Given the description of an element on the screen output the (x, y) to click on. 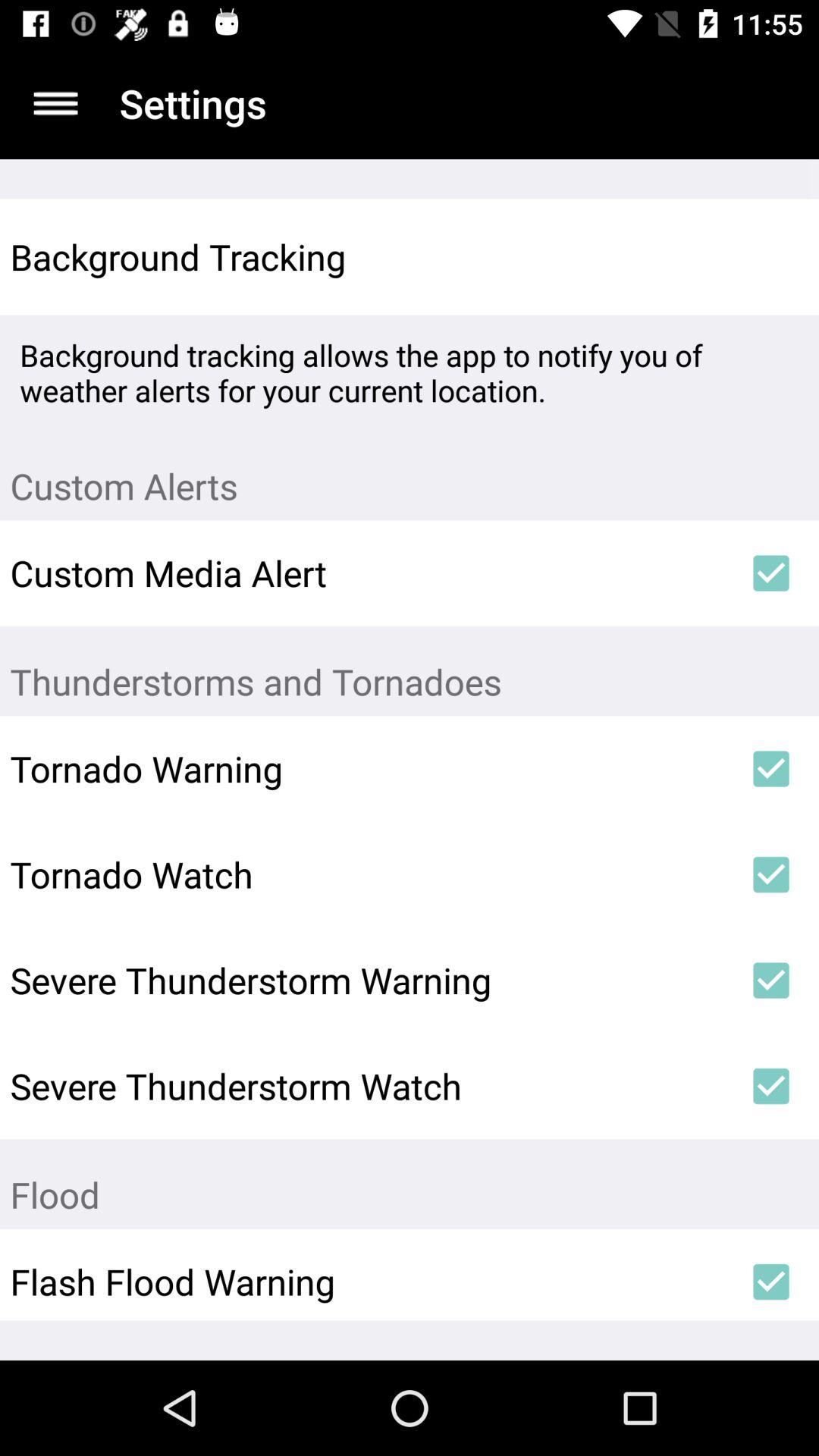
select the icon next to the background tracking icon (771, 256)
